Given the description of an element on the screen output the (x, y) to click on. 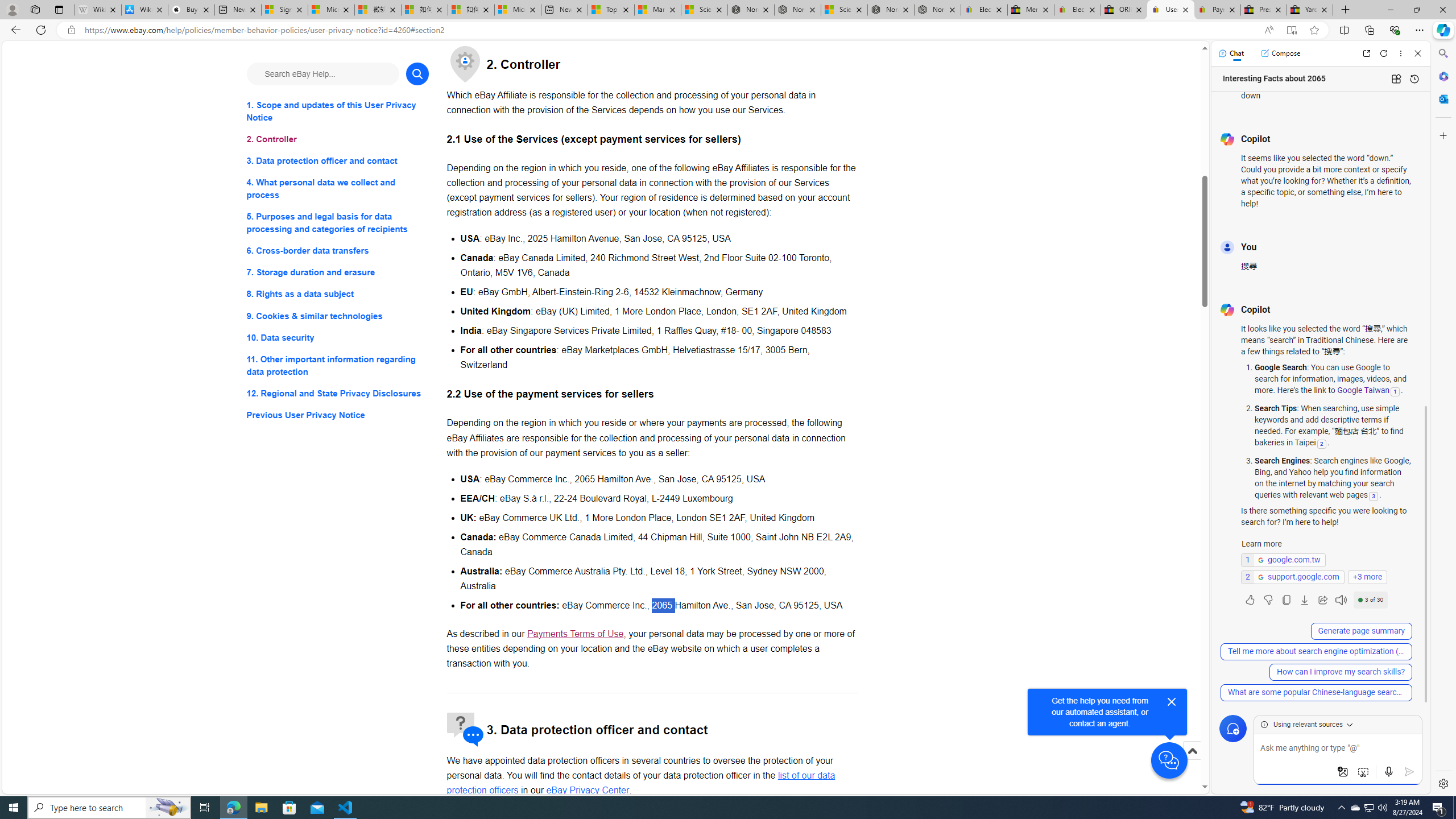
User Privacy Notice | eBay (1170, 9)
Collections (1369, 29)
3. Data protection officer and contact (337, 160)
3. Data protection officer and contact (337, 160)
Wikipedia - Sleeping (97, 9)
11. Other important information regarding data protection (337, 365)
Customize (1442, 135)
Compose (1280, 52)
8. Rights as a data subject (337, 293)
9. Cookies & similar technologies (337, 315)
